Given the description of an element on the screen output the (x, y) to click on. 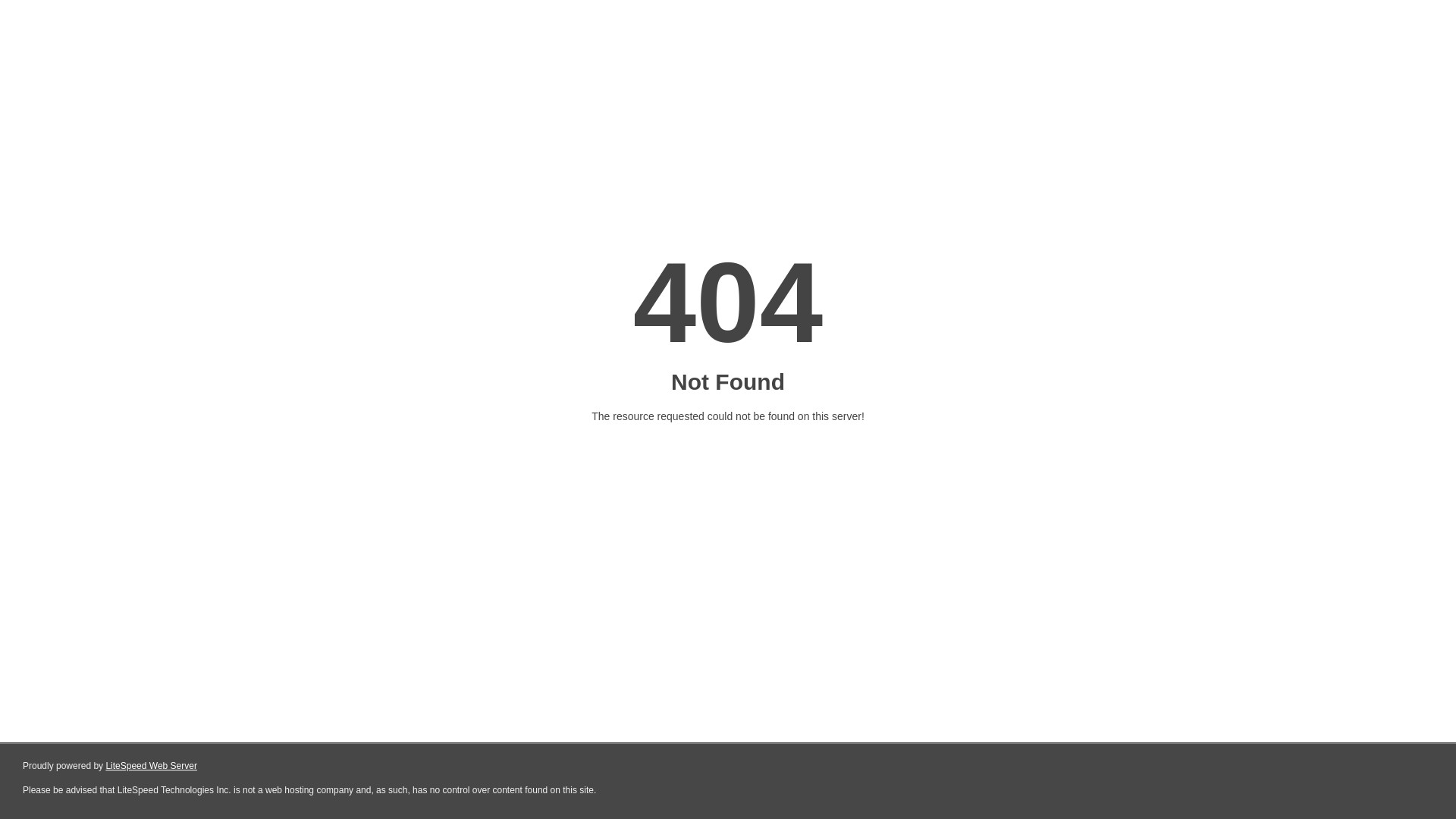
LiteSpeed Web Server Element type: text (151, 765)
